Given the description of an element on the screen output the (x, y) to click on. 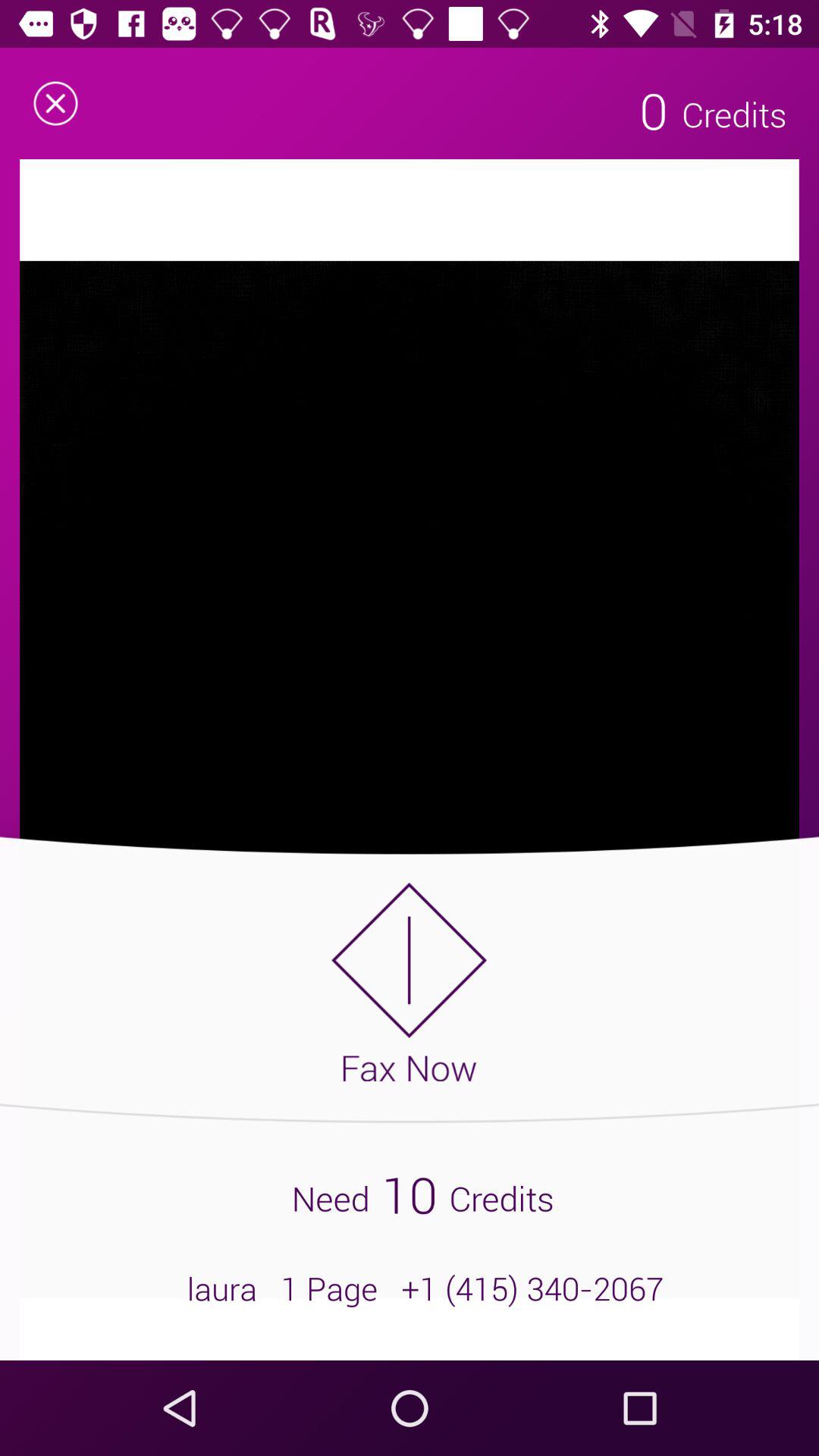
turn off item below  10  icon (409, 1288)
